Given the description of an element on the screen output the (x, y) to click on. 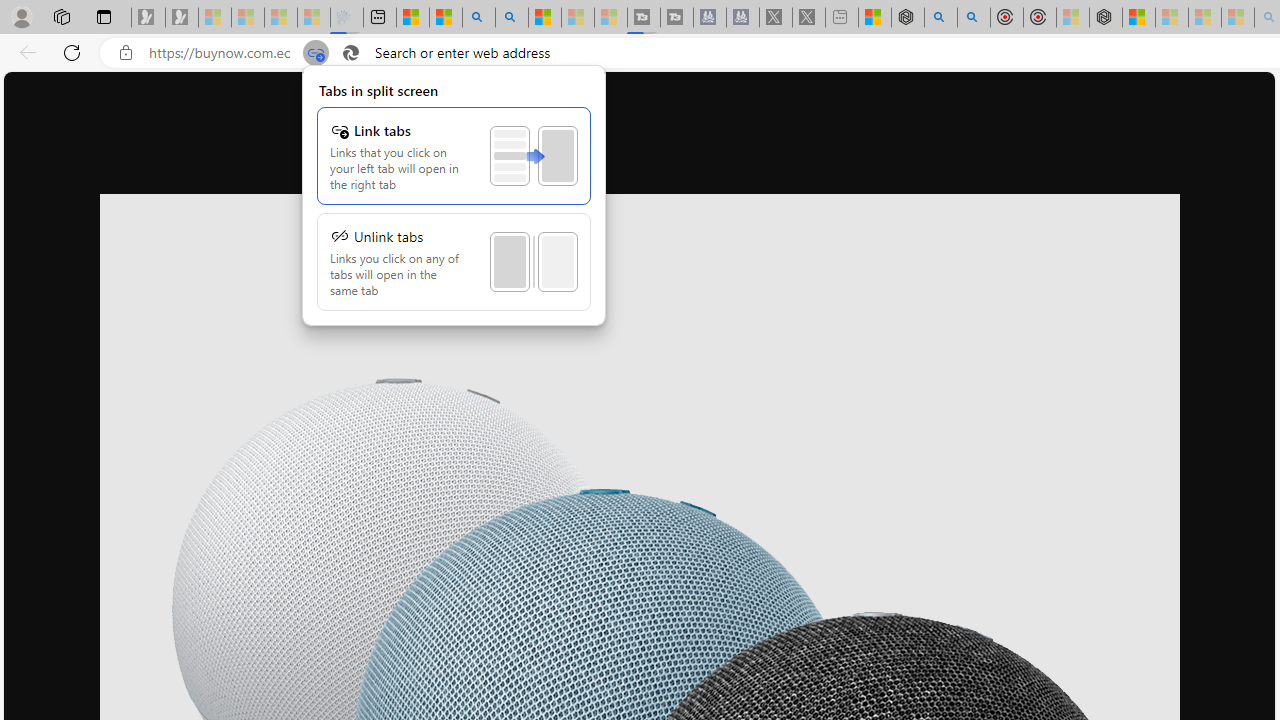
Microsoft Start - Sleeping (577, 17)
Streaming Coverage | T3 - Sleeping (644, 17)
Unlink tabs (454, 262)
Nordace - Nordace Siena Is Not An Ordinary Backpack (1106, 17)
Nordace - Summer Adventures 2024 (908, 17)
Wildlife - MSN (874, 17)
Tabs in split screen (315, 53)
Class: SubmenuView (454, 195)
